Given the description of an element on the screen output the (x, y) to click on. 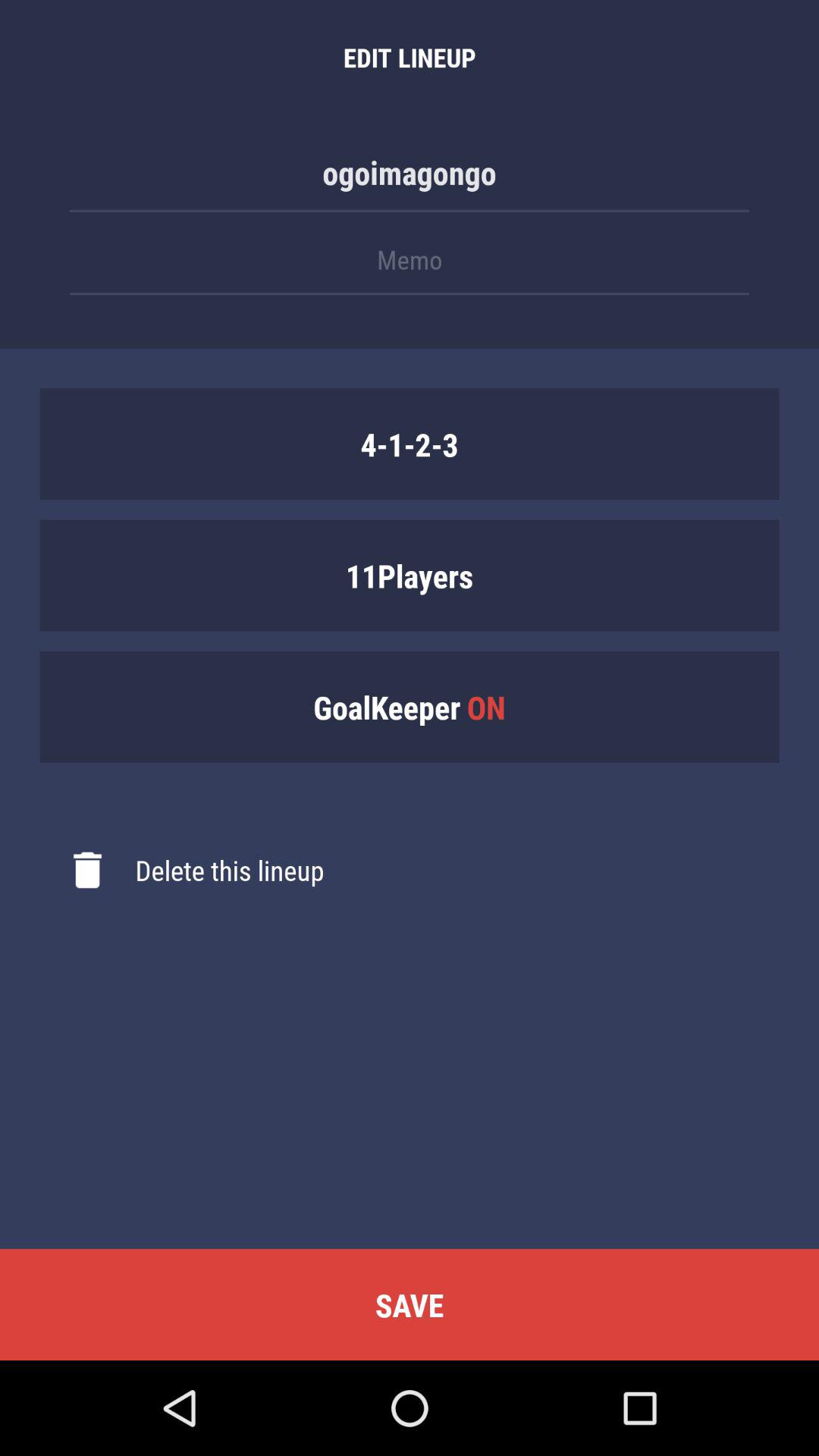
open the 11players item (409, 575)
